Given the description of an element on the screen output the (x, y) to click on. 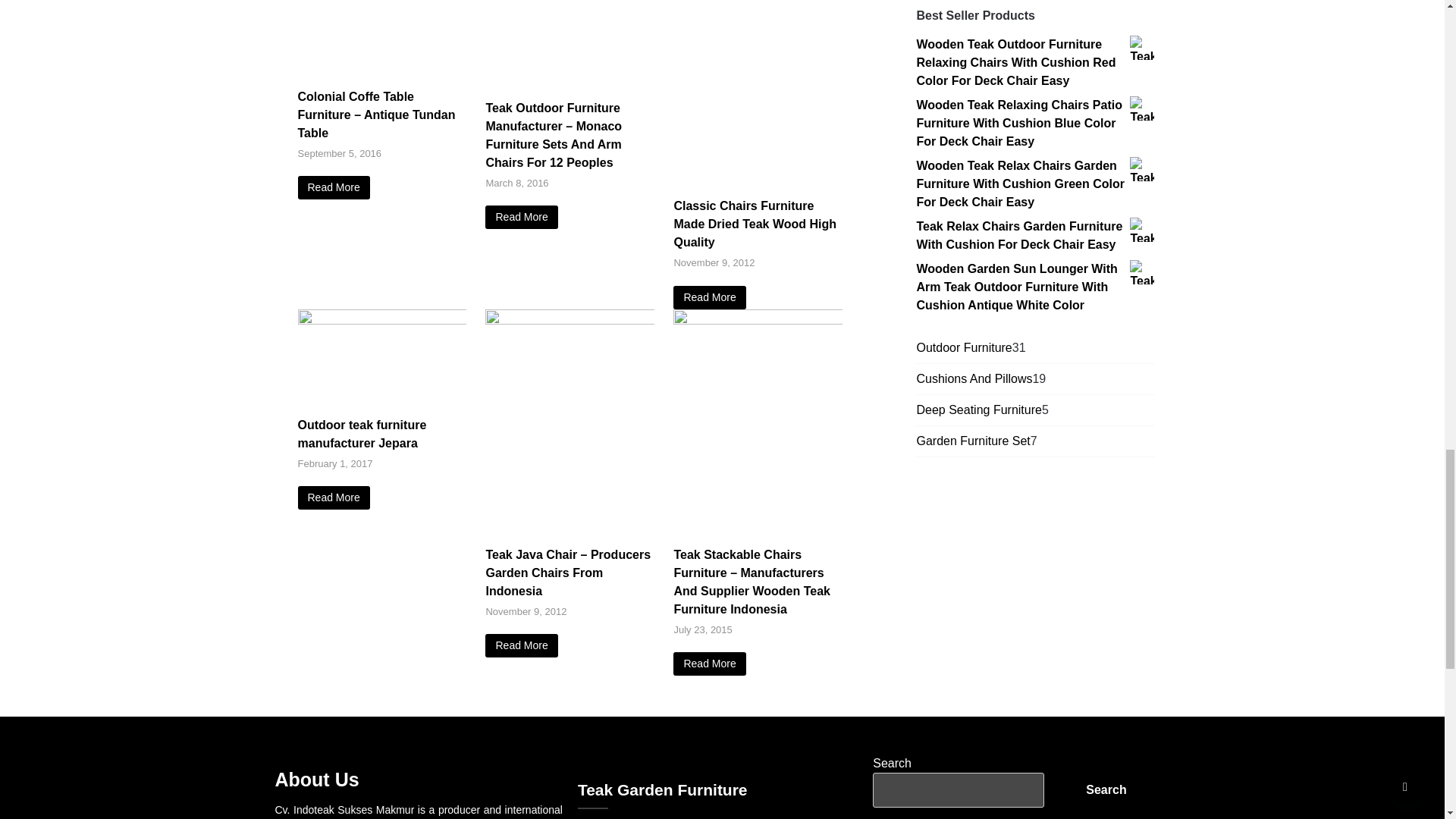
Outdoor teak furniture manufacturer Jepara (381, 319)
Classic Chairs Furniture Made Dried Teak Wood High Quality (708, 297)
Read More (333, 187)
Outdoor teak furniture manufacturer Jepara (333, 497)
